Given the description of an element on the screen output the (x, y) to click on. 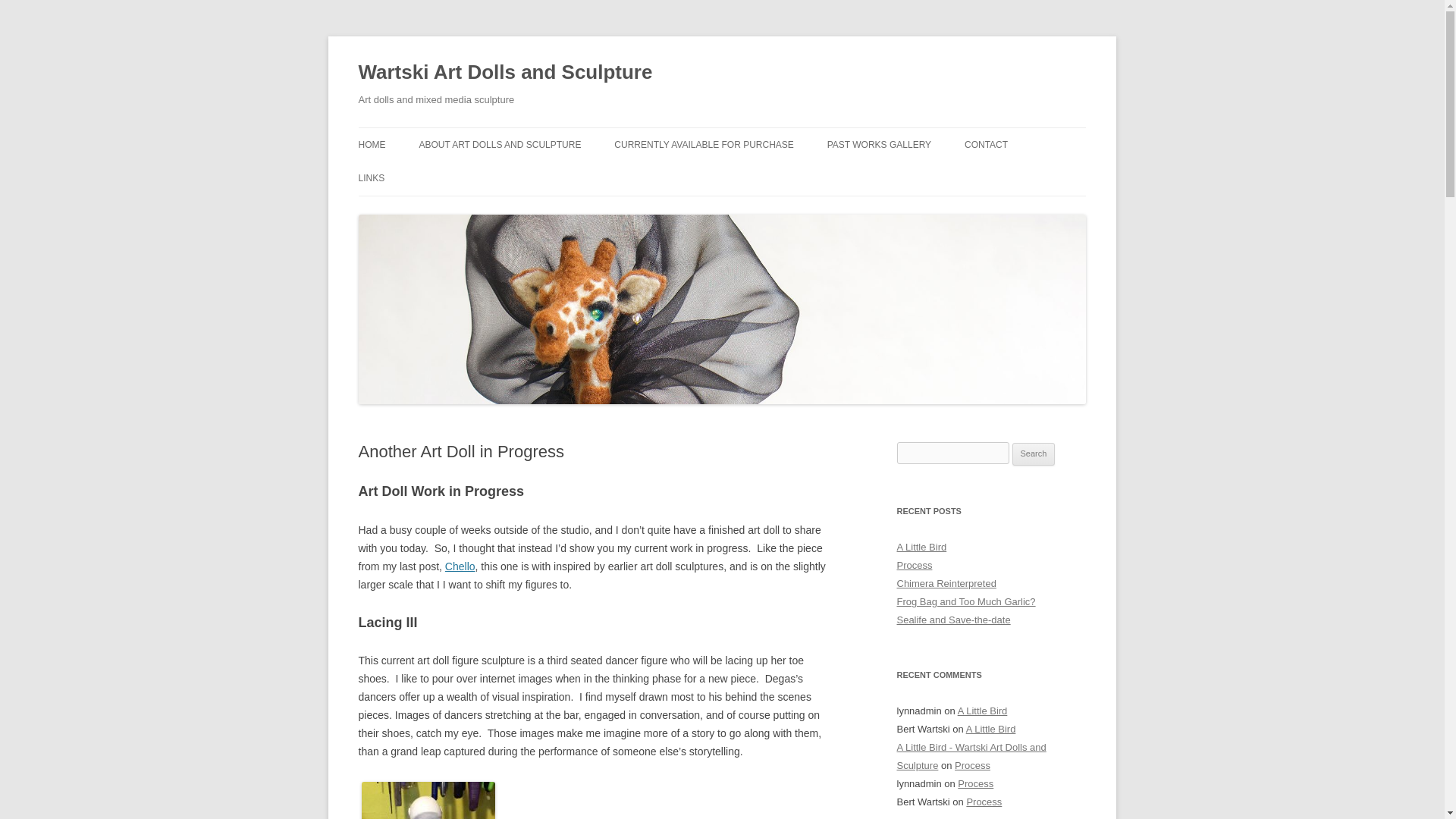
Chello (460, 566)
A Little Bird (921, 546)
CURRENTLY AVAILABLE FOR PURCHASE (703, 144)
ABOUT ART DOLLS AND SCULPTURE (499, 144)
Process (913, 564)
PAST WORKS GALLERY (879, 144)
Search (1033, 454)
Chimera Reinterpreted (945, 583)
Frog Bag and Too Much Garlic? (965, 601)
